Given the description of an element on the screen output the (x, y) to click on. 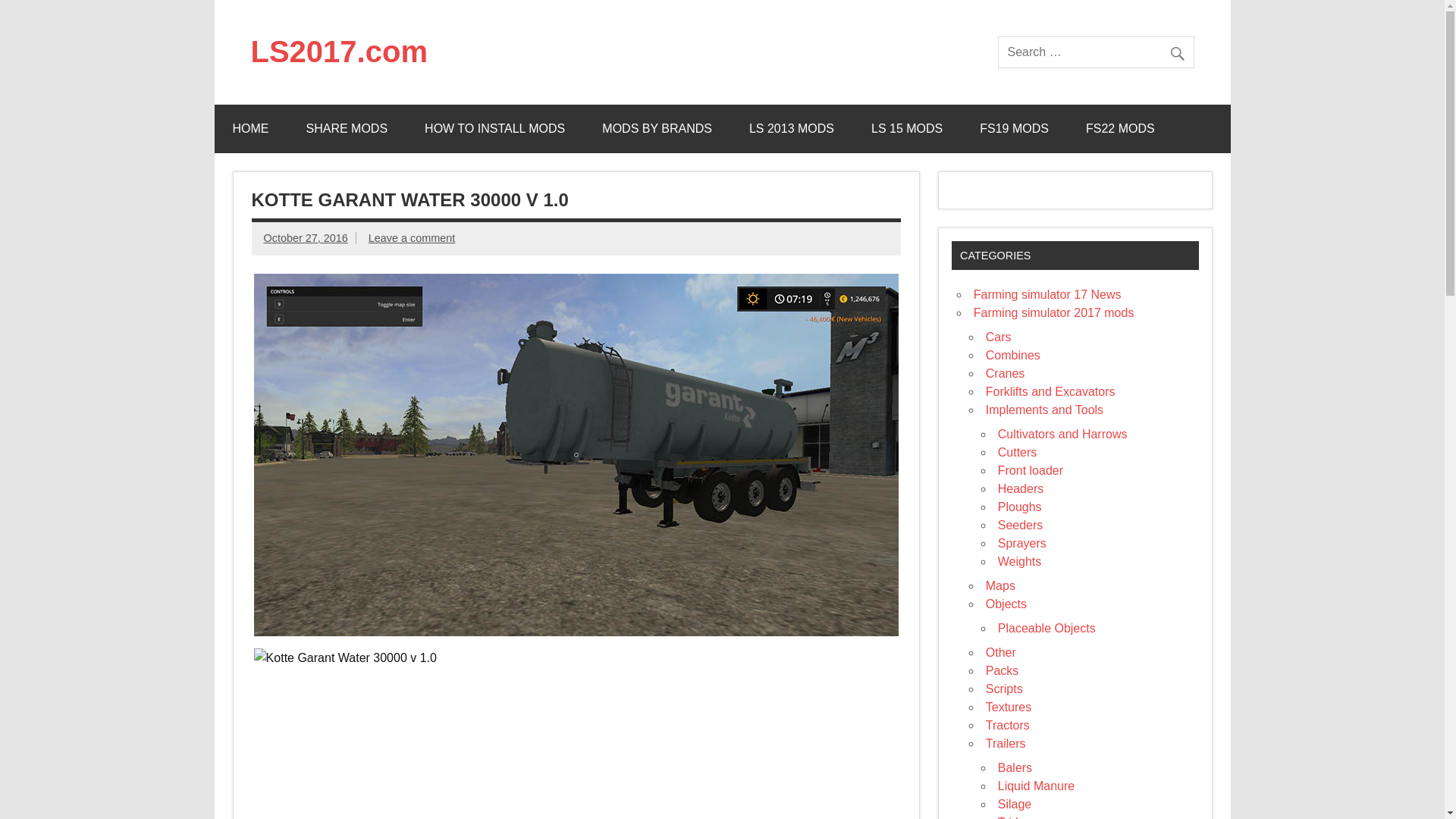
MODS BY BRANDS (656, 128)
LS 15 MODS (906, 128)
Maps (999, 585)
HOW TO INSTALL MODS (494, 128)
Objects (1005, 603)
SHARE MODS (347, 128)
Other (1000, 652)
Placeable Objects (1046, 627)
Implements and Tools (1044, 409)
Packs (1002, 670)
